Given the description of an element on the screen output the (x, y) to click on. 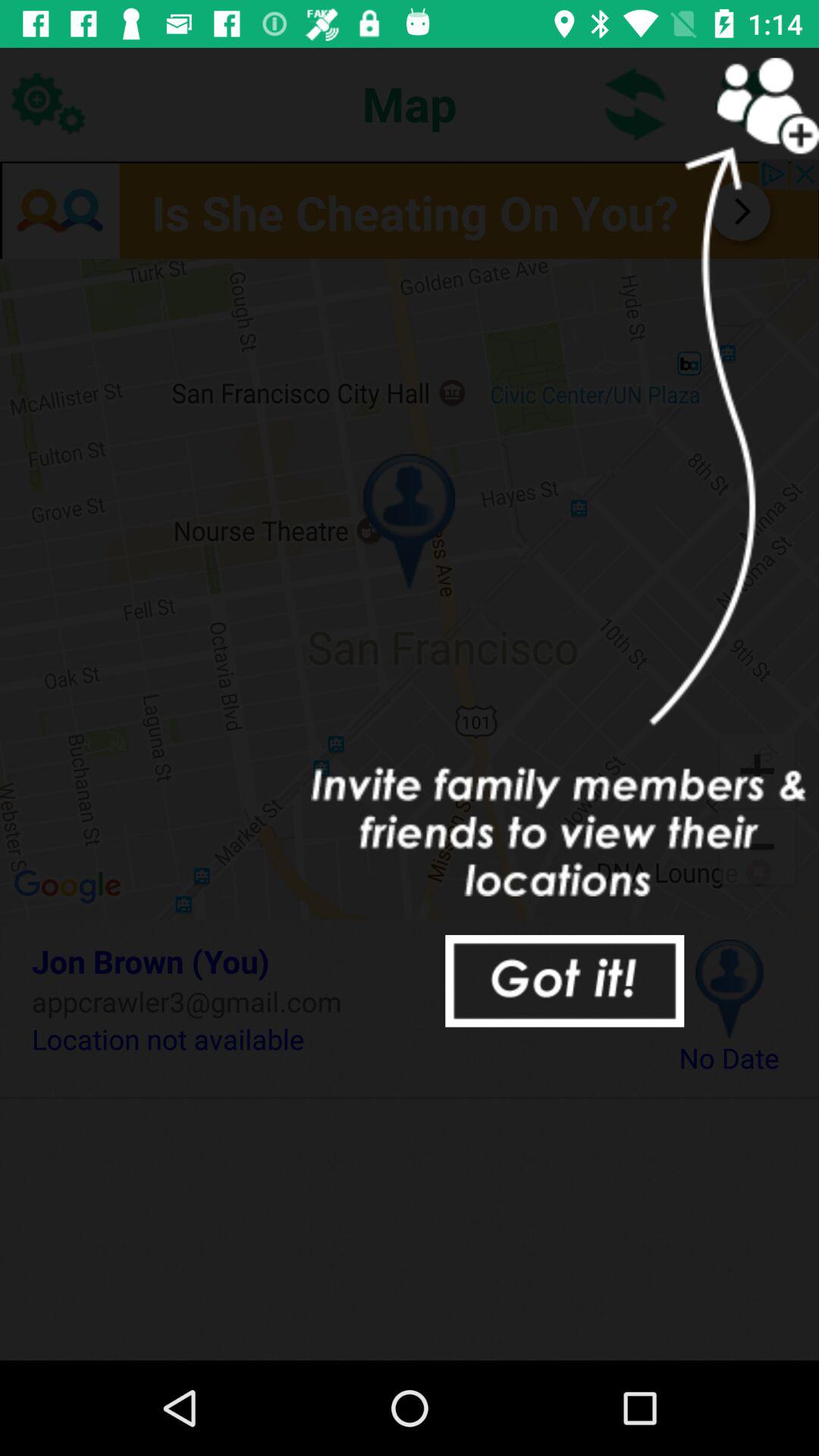
click on more info (409, 208)
